Given the description of an element on the screen output the (x, y) to click on. 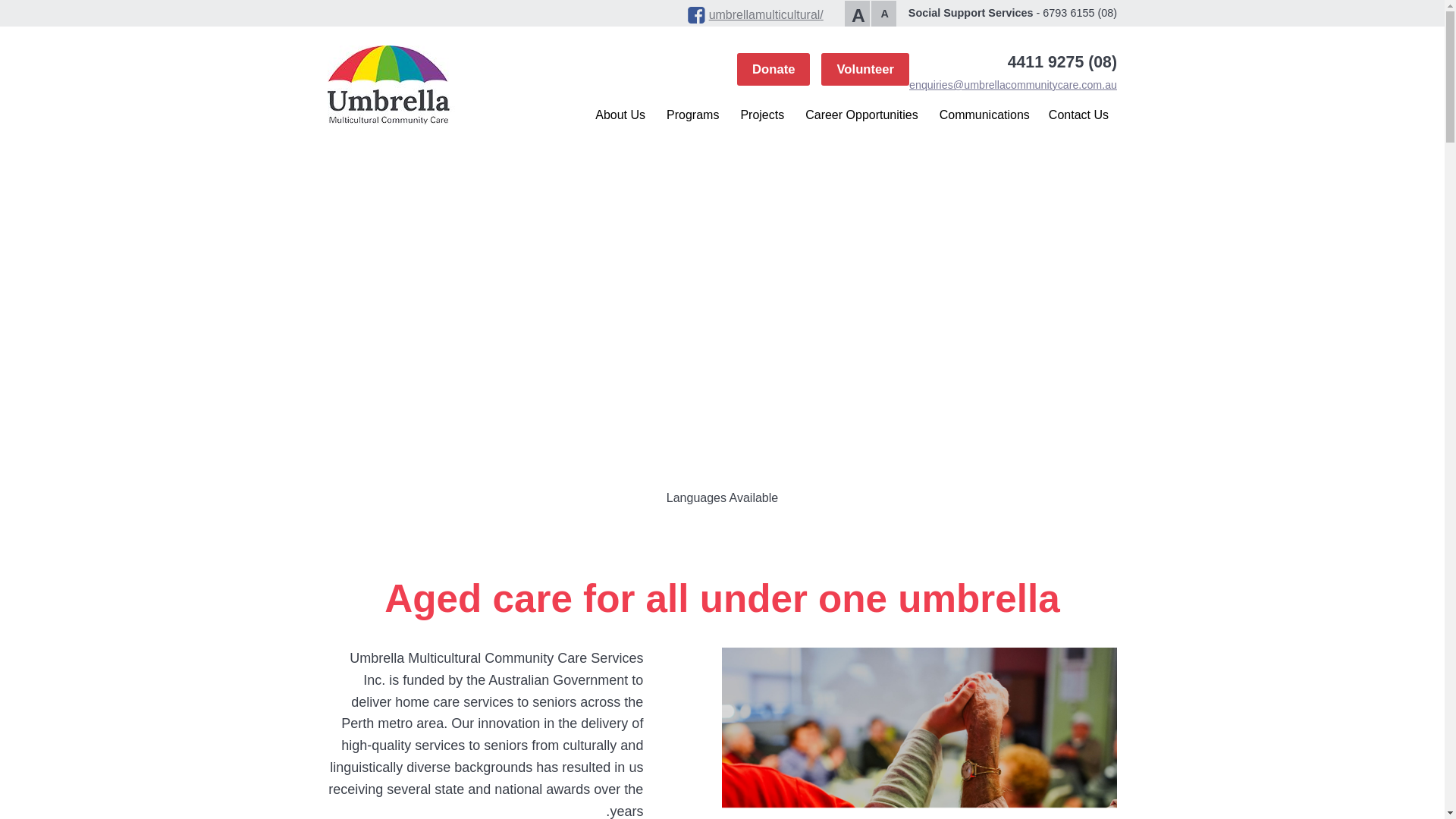
Volunteer (864, 69)
Projects (762, 113)
Languages Available (722, 497)
About Us (620, 113)
Umbrella - Multicultural Community Care (395, 84)
Career Opportunities (861, 113)
Donate (772, 69)
Decrease font size (883, 12)
Communications (983, 113)
Increase font size (856, 12)
